Given the description of an element on the screen output the (x, y) to click on. 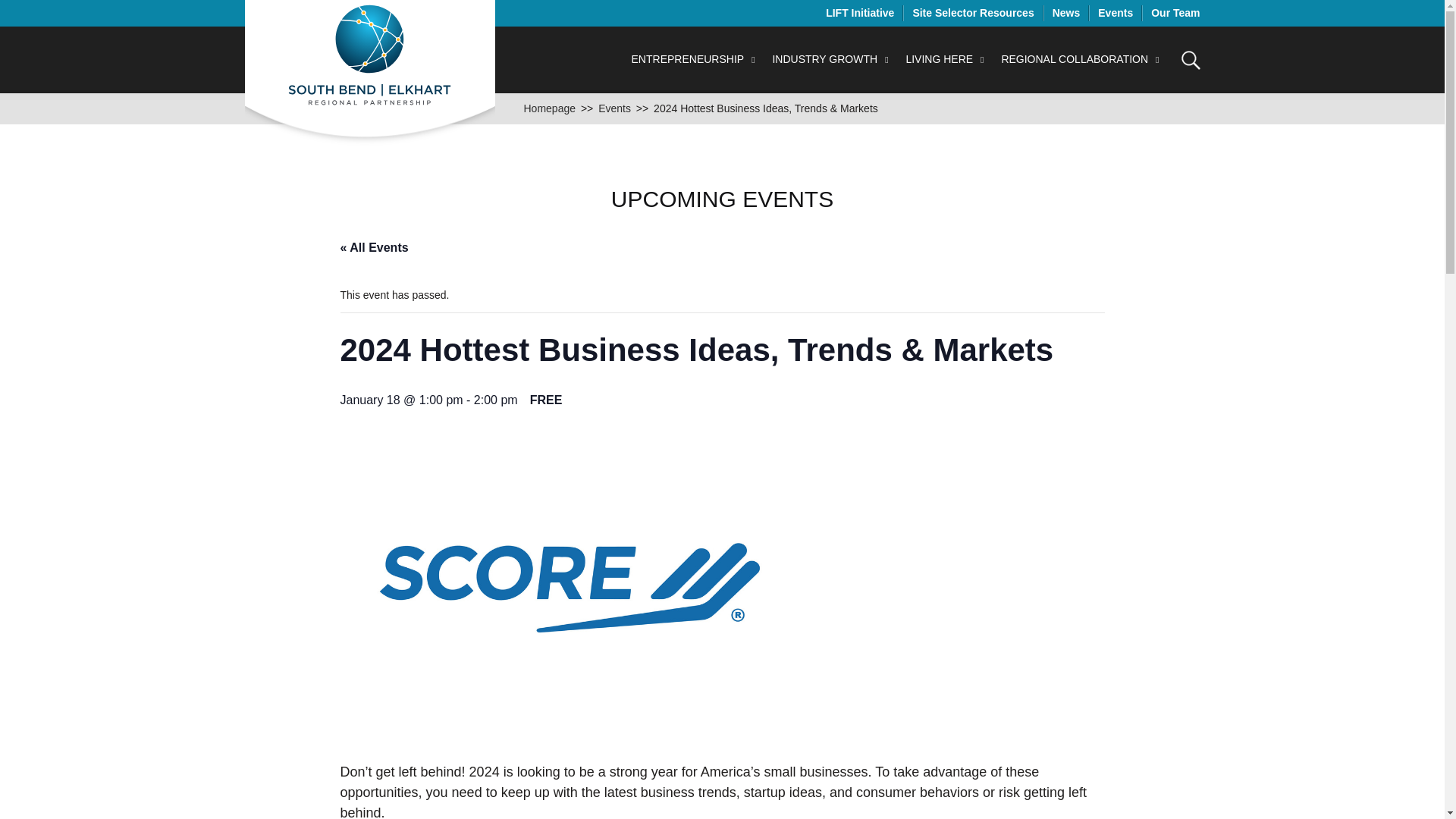
Events (1114, 12)
LIVING HERE (946, 59)
Homepage (548, 108)
Site Selector Resources (972, 12)
Our Team (1175, 12)
INDUSTRY GROWTH (831, 59)
LIFT Initiative (859, 12)
News (1066, 12)
ENTREPRENEURSHIP (694, 59)
Events (614, 108)
